Given the description of an element on the screen output the (x, y) to click on. 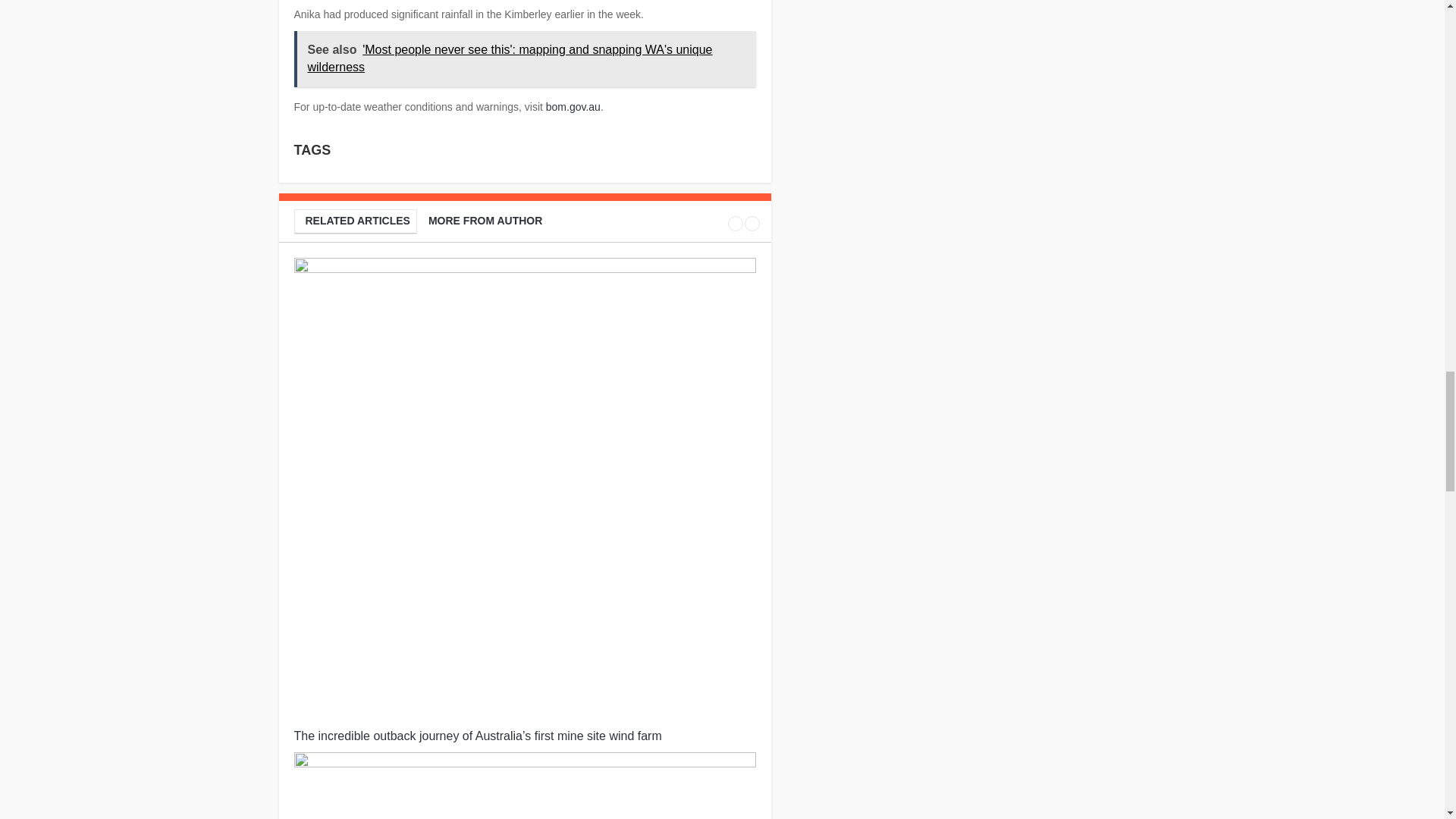
Prev (735, 223)
RELATED ARTICLES (354, 221)
MORE FROM AUTHOR (482, 221)
bom.gov.au (572, 106)
Next (752, 223)
